Given the description of an element on the screen output the (x, y) to click on. 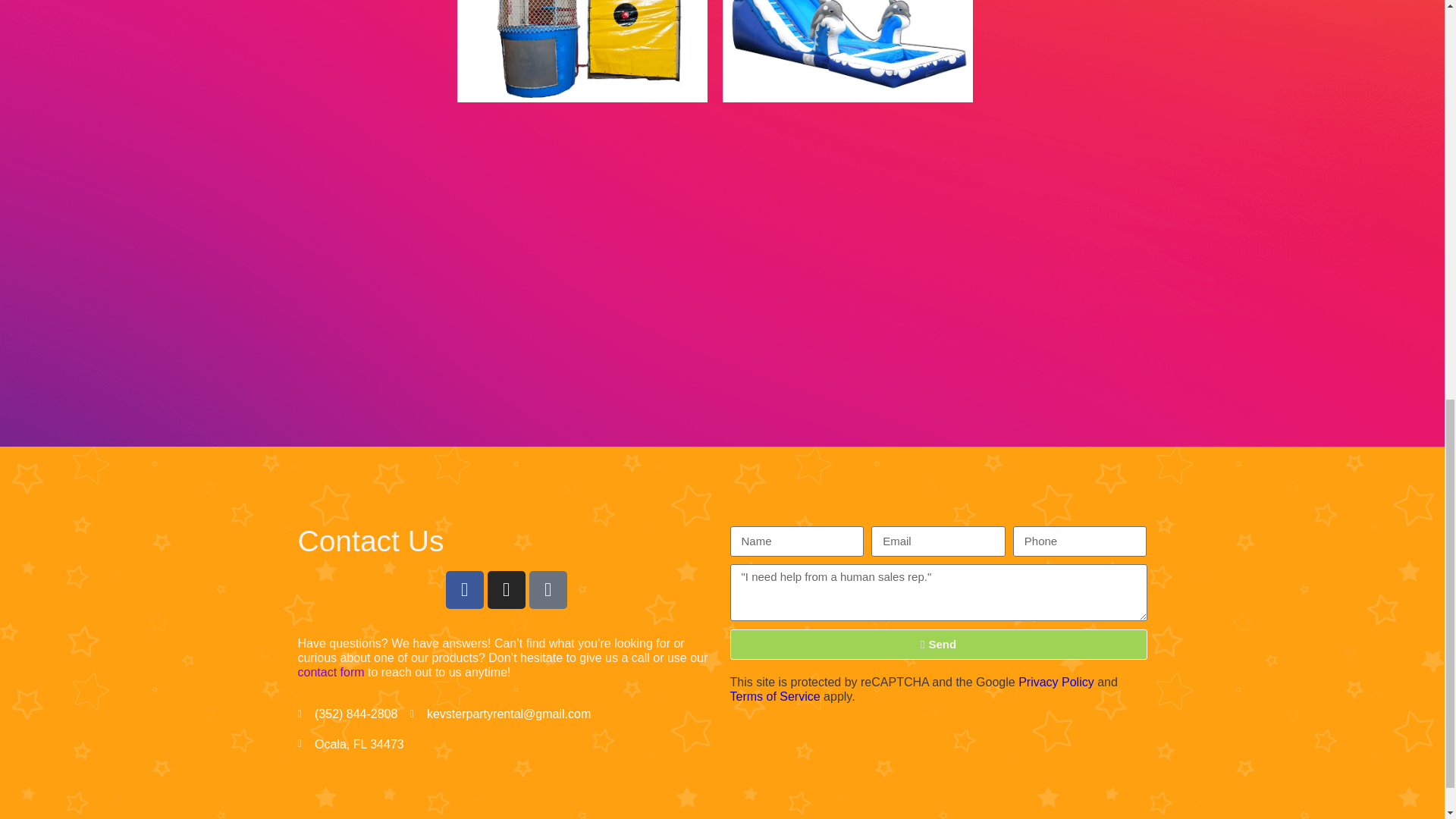
Send (938, 644)
Privacy Policy (1055, 681)
contact form (330, 671)
Terms of Service (774, 696)
